Given the description of an element on the screen output the (x, y) to click on. 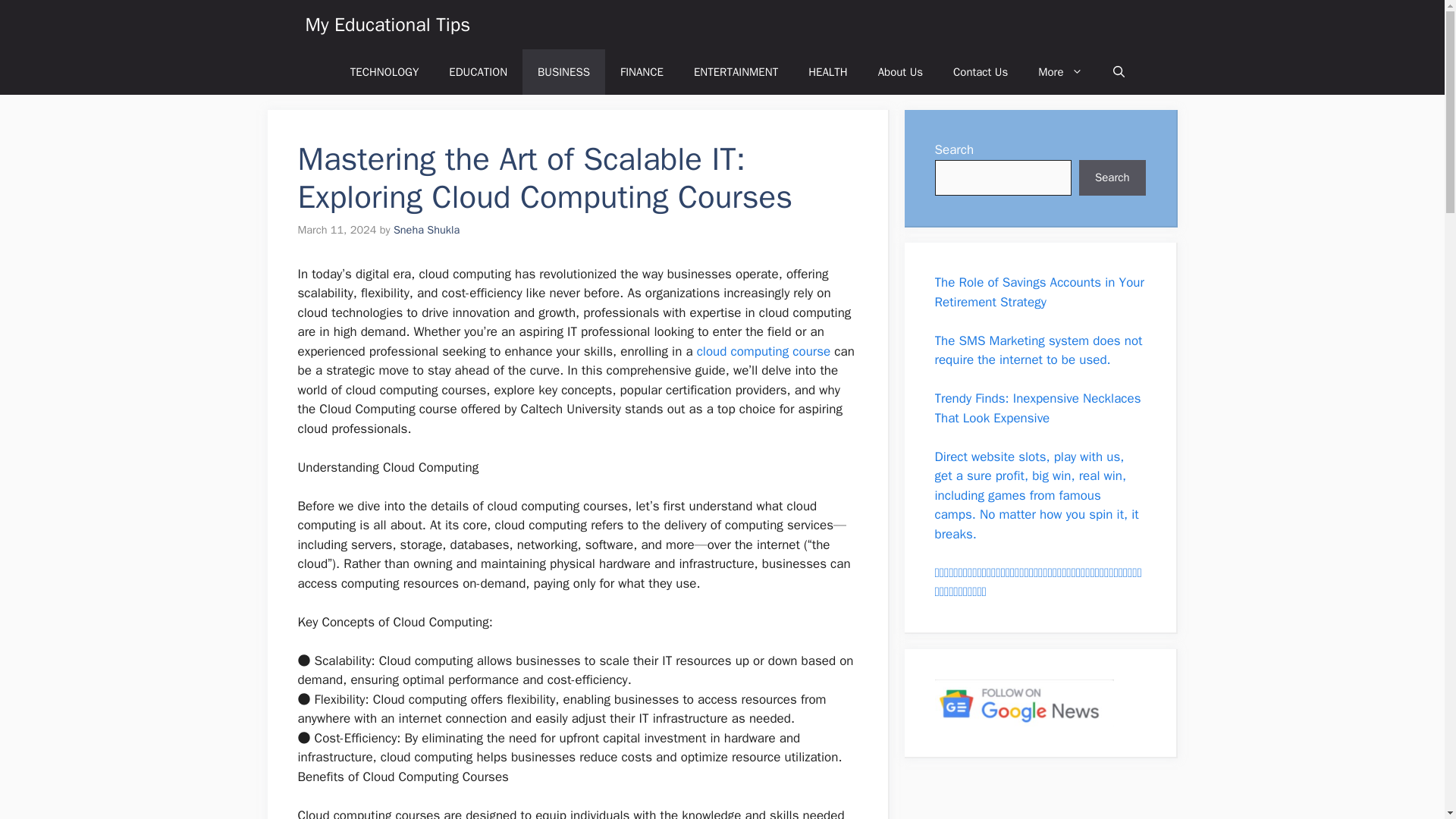
Contact Us (980, 72)
More (1060, 72)
cloud computing course (764, 351)
About Us (900, 72)
EDUCATION (477, 72)
ENTERTAINMENT (735, 72)
TECHNOLOGY (383, 72)
My Educational Tips (387, 24)
Sneha Shukla (426, 229)
HEALTH (828, 72)
